Given the description of an element on the screen output the (x, y) to click on. 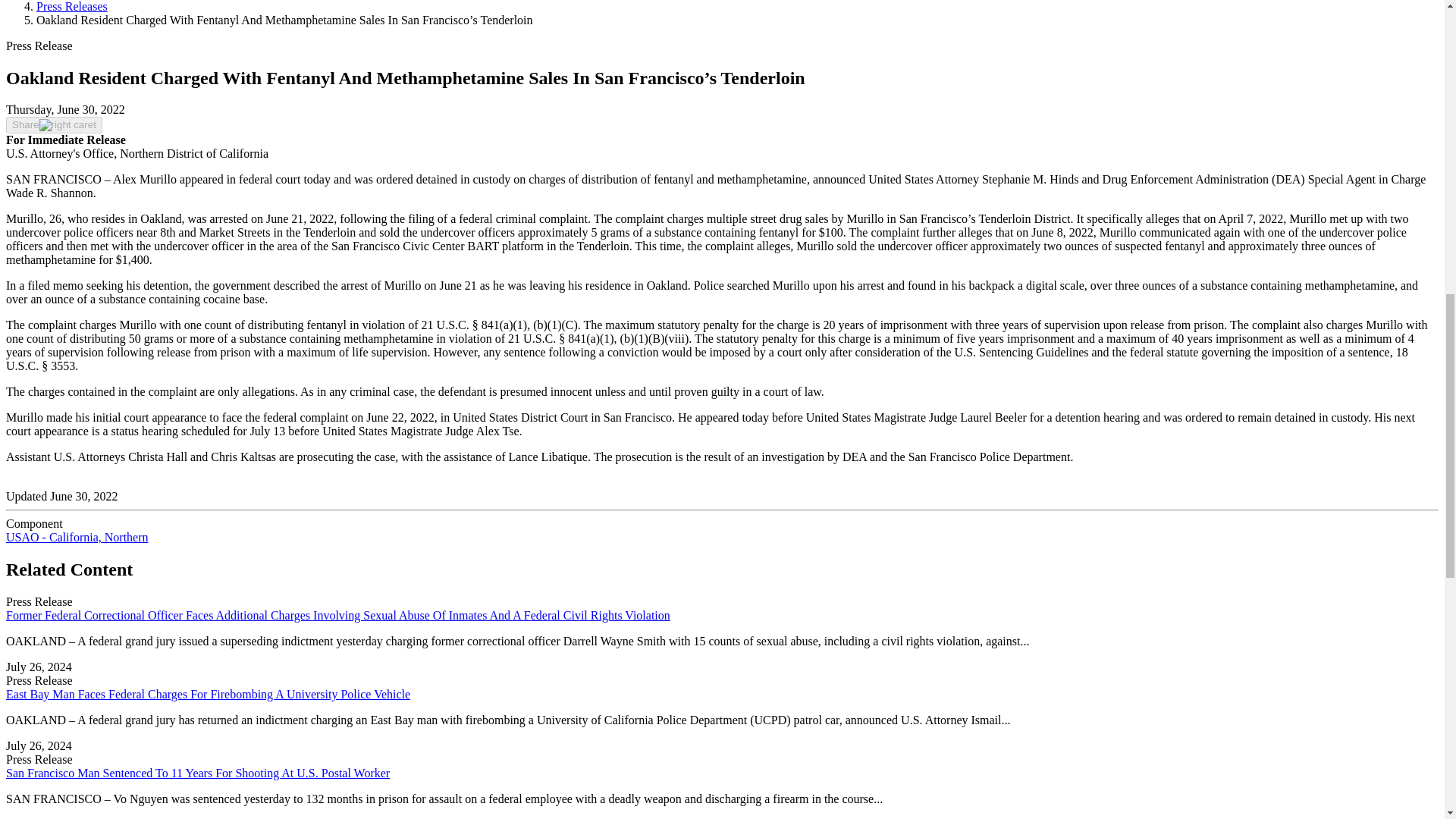
Share (53, 125)
Press Releases (71, 6)
